Given the description of an element on the screen output the (x, y) to click on. 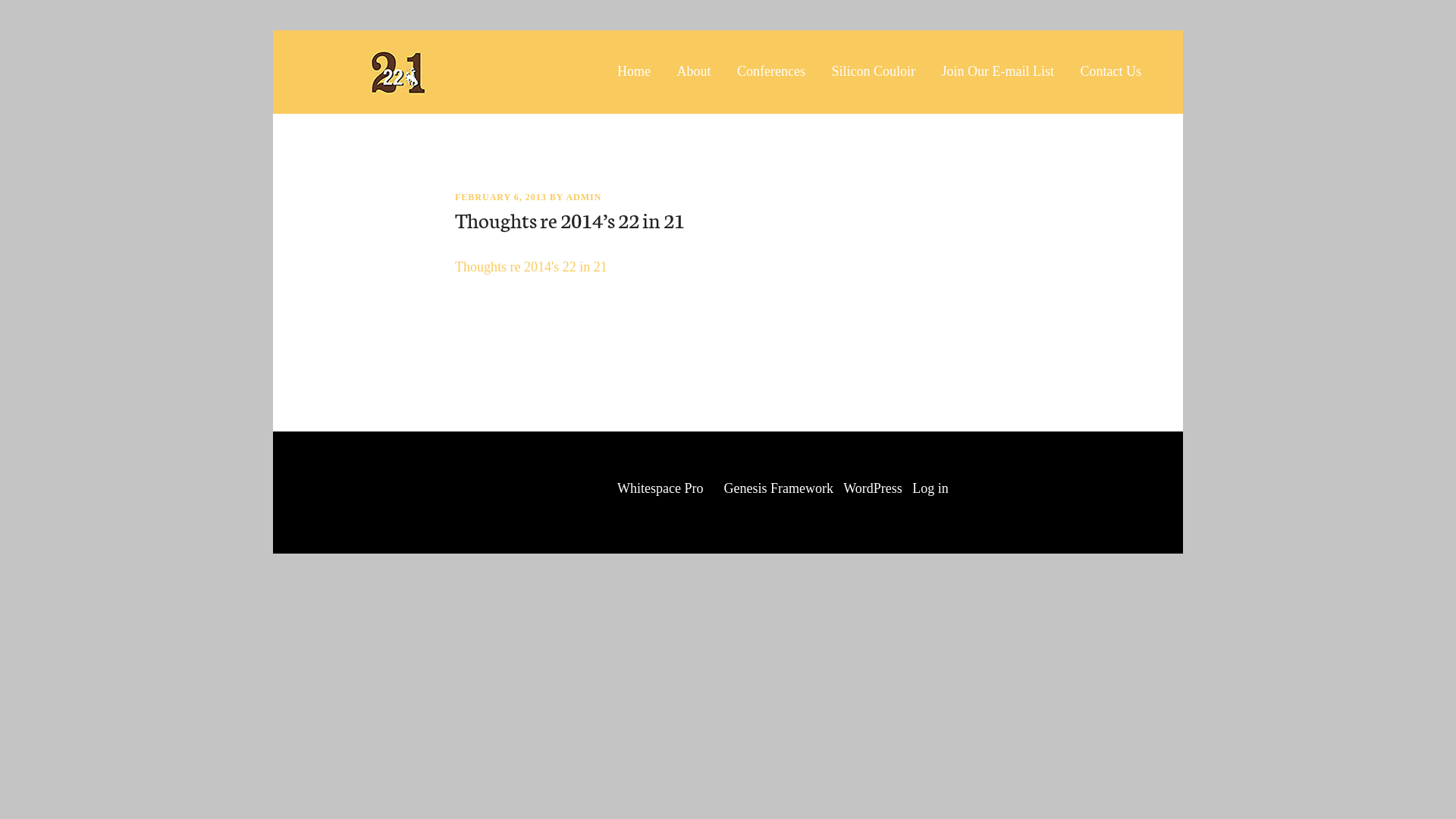
Contact Us Element type: text (1111, 71)
Whitespace Pro Element type: text (659, 487)
Conferences Element type: text (770, 71)
Join Our E-mail List Element type: text (997, 71)
About Element type: text (693, 71)
Silicon Couloir Element type: text (873, 71)
ADMIN Element type: text (583, 196)
Home Element type: text (639, 71)
Genesis Framework Element type: text (778, 487)
22 IN 21 Element type: text (397, 71)
WordPress Element type: text (872, 487)
Log in Element type: text (930, 487)
Thoughts re 2014's 22 in 21 Element type: text (531, 266)
